Given the description of an element on the screen output the (x, y) to click on. 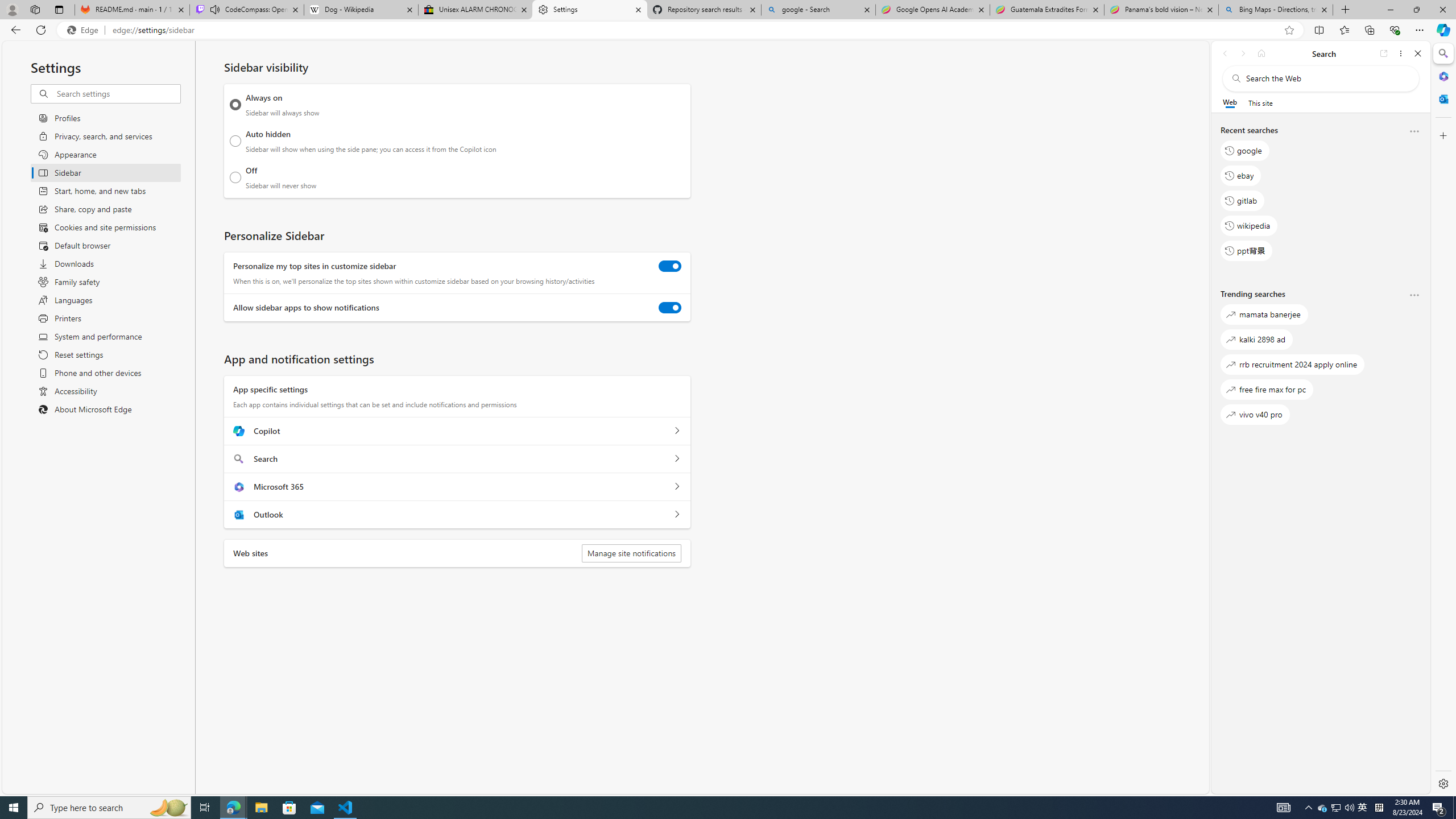
Personalize my top sites in customize sidebar (669, 265)
Google Opens AI Academy for Startups - Nearshore Americas (932, 9)
Search settings (117, 93)
gitlab (1242, 200)
ebay (1240, 175)
Copilot (676, 430)
Always on Sidebar will always show (235, 104)
